Given the description of an element on the screen output the (x, y) to click on. 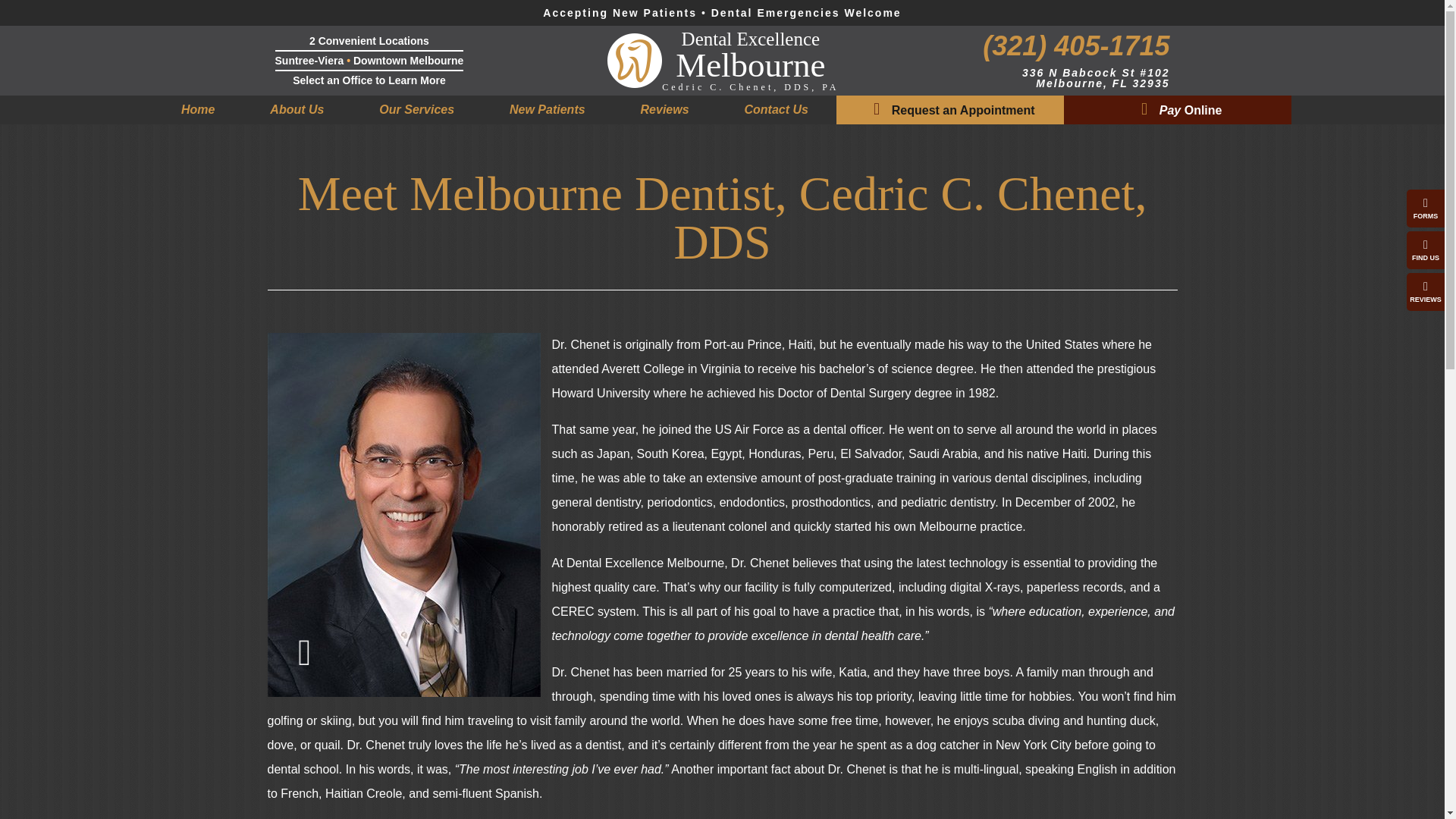
Dentist Melbourne (197, 109)
About Us (296, 109)
Dental Emergencies Welcome (806, 12)
Home (197, 109)
Our Services (416, 109)
About Us (296, 109)
Suntree-Viera (722, 60)
Accepting New Patients (309, 60)
Dental Services (620, 12)
Downtown Melbourne (416, 109)
